Given the description of an element on the screen output the (x, y) to click on. 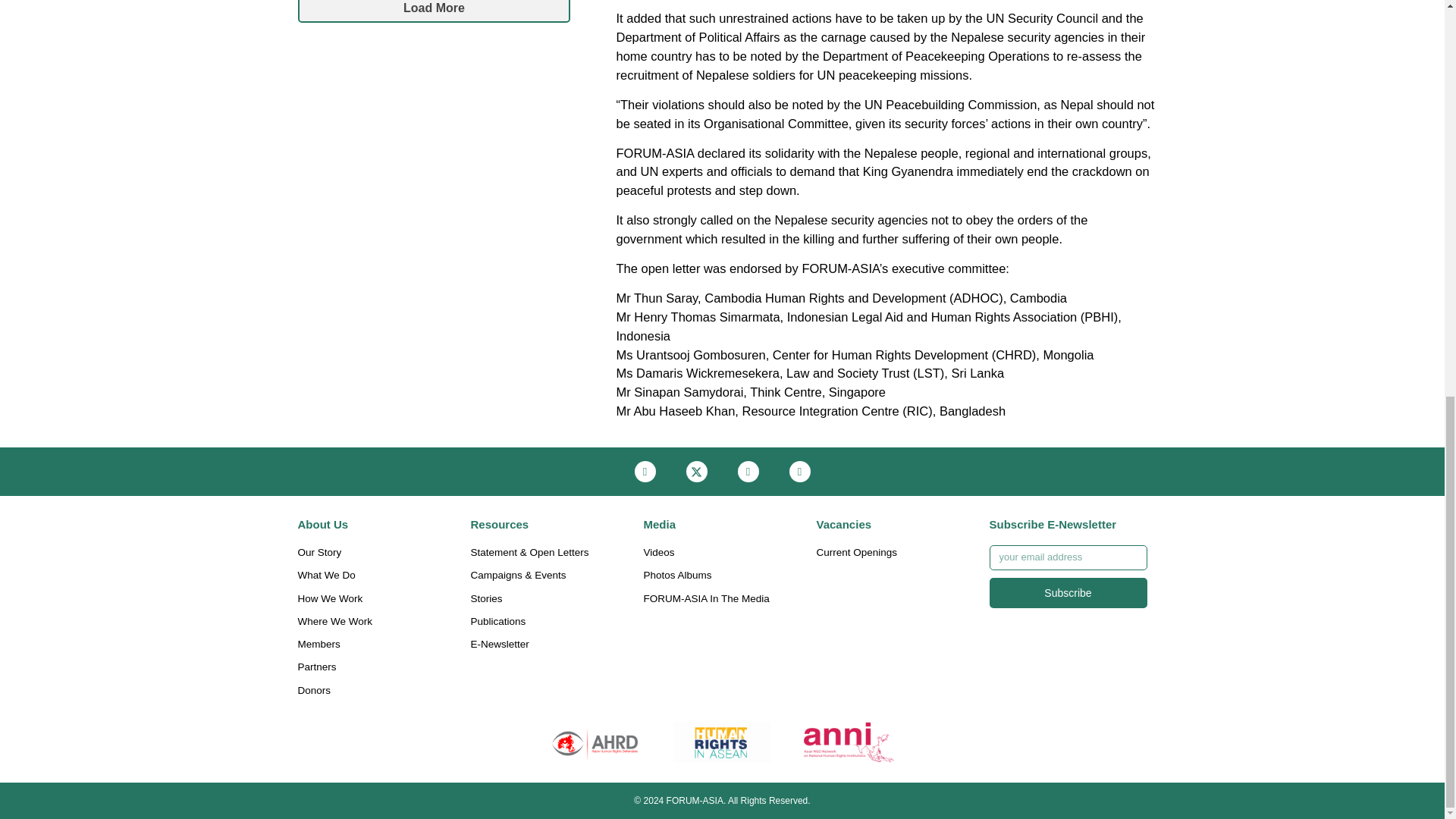
Default Title (595, 741)
Default Title (848, 741)
Default Title (722, 741)
